Given the description of an element on the screen output the (x, y) to click on. 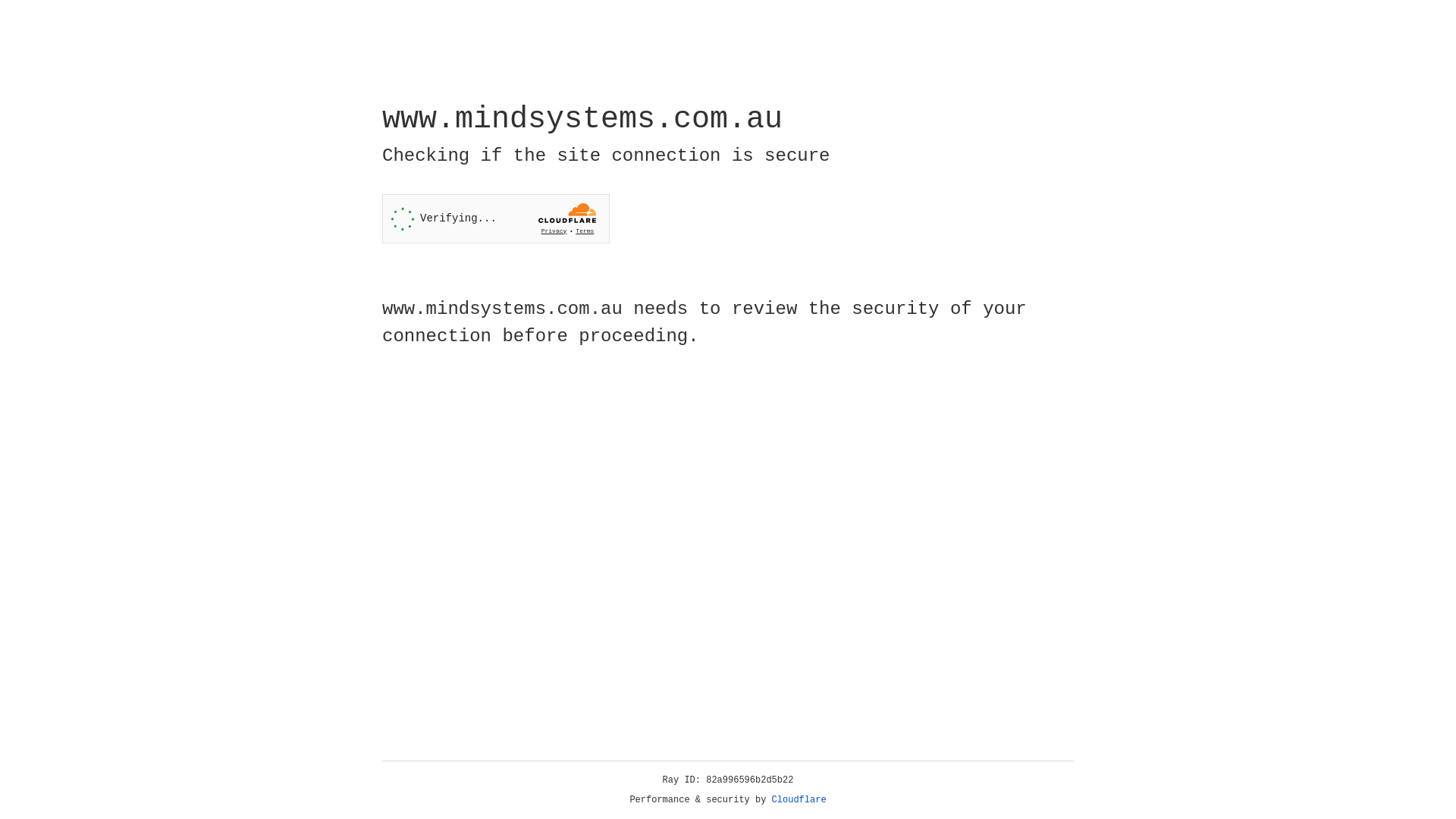
Widget containing a Cloudflare security challenge Element type: hover (495, 218)
Cloudflare Element type: text (798, 799)
